Given the description of an element on the screen output the (x, y) to click on. 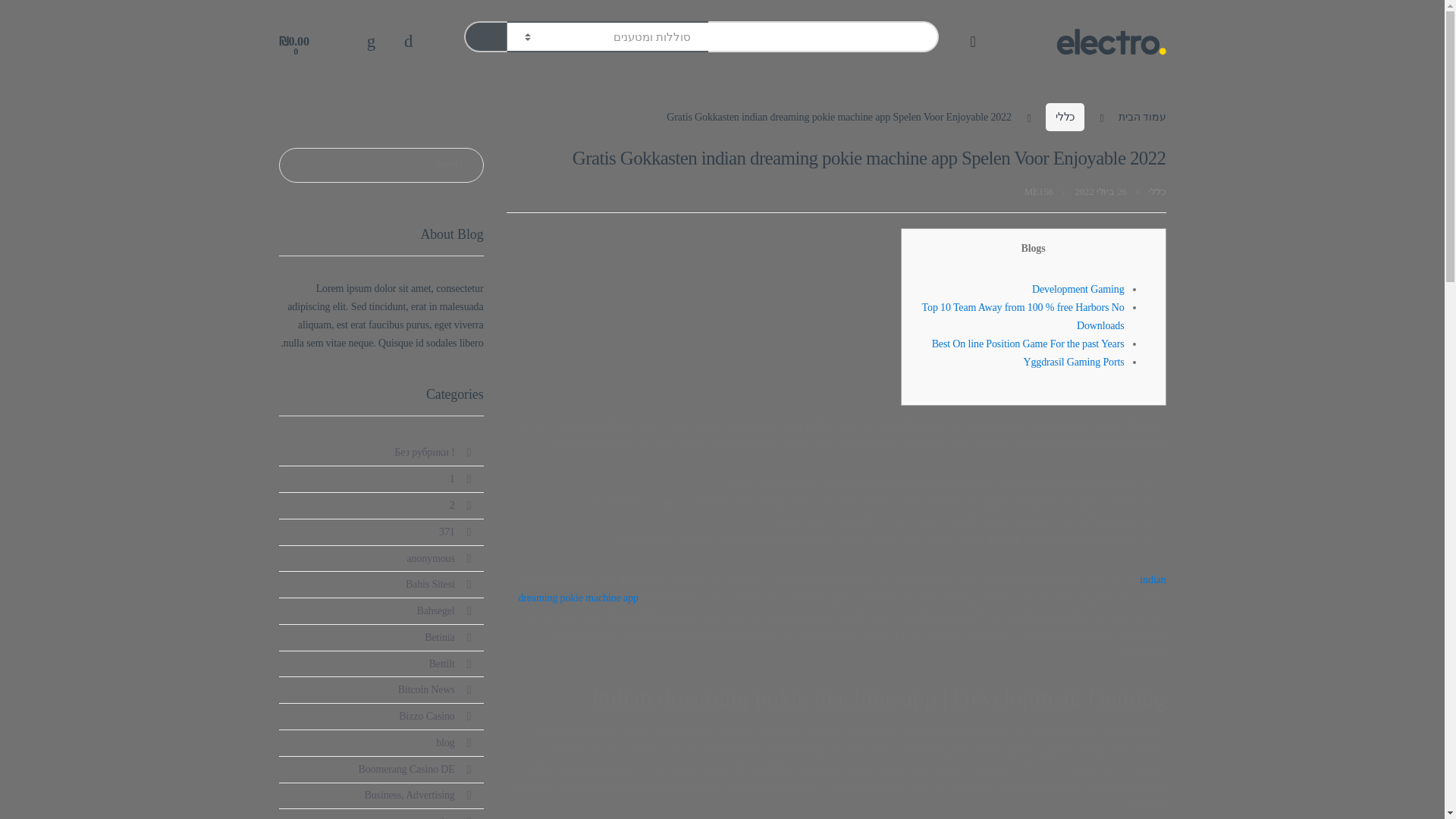
Bahis Sitesi (430, 584)
indian dreaming pokie machine app (842, 588)
ME156 (1038, 191)
Development Gaming (1078, 288)
Bahsegel (435, 611)
Yggdrasil Gaming Ports (1073, 361)
Best On line Position Game For the past Years (1027, 343)
anonymous (430, 558)
